Given the description of an element on the screen output the (x, y) to click on. 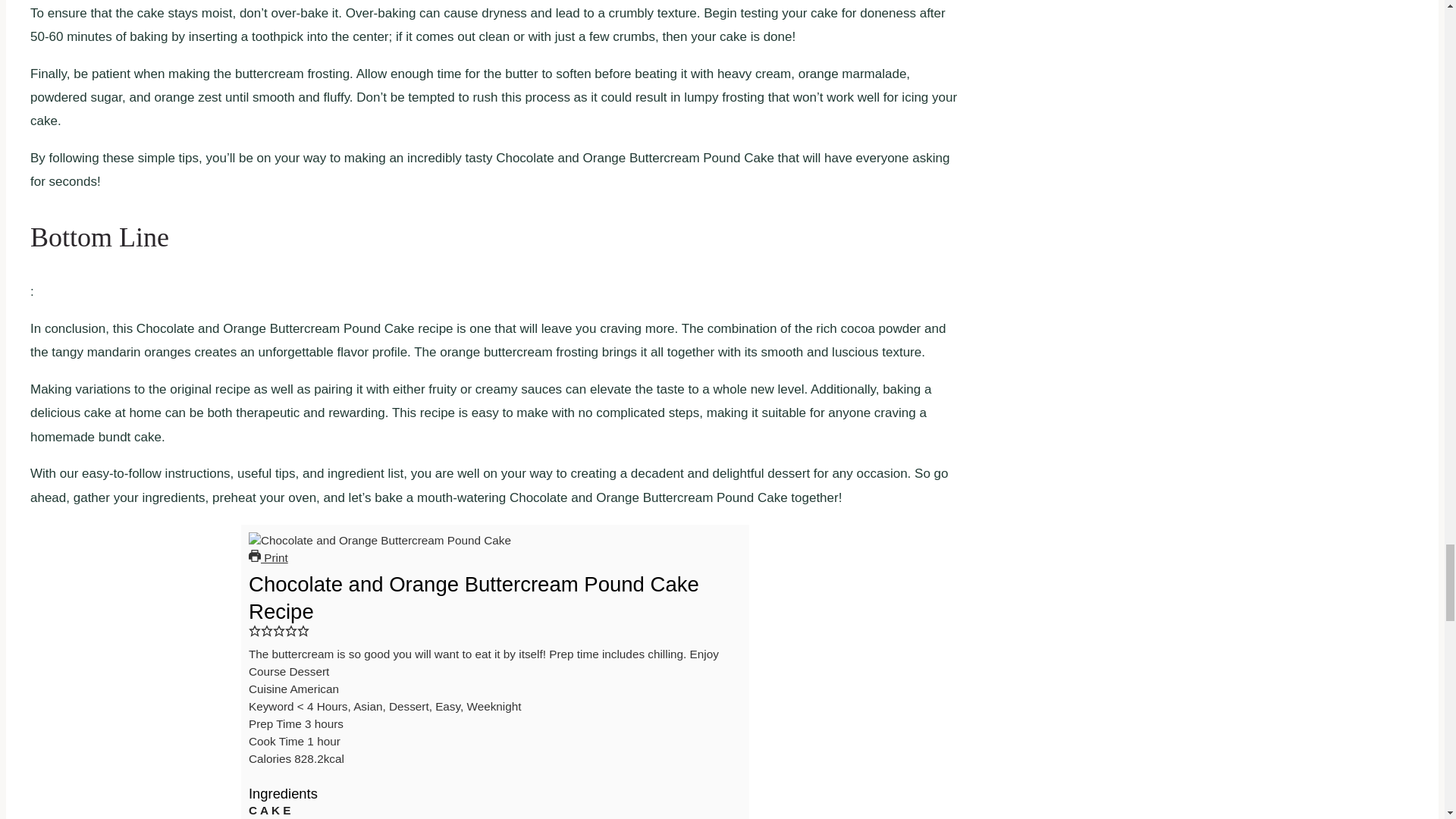
Print (268, 557)
